Given the description of an element on the screen output the (x, y) to click on. 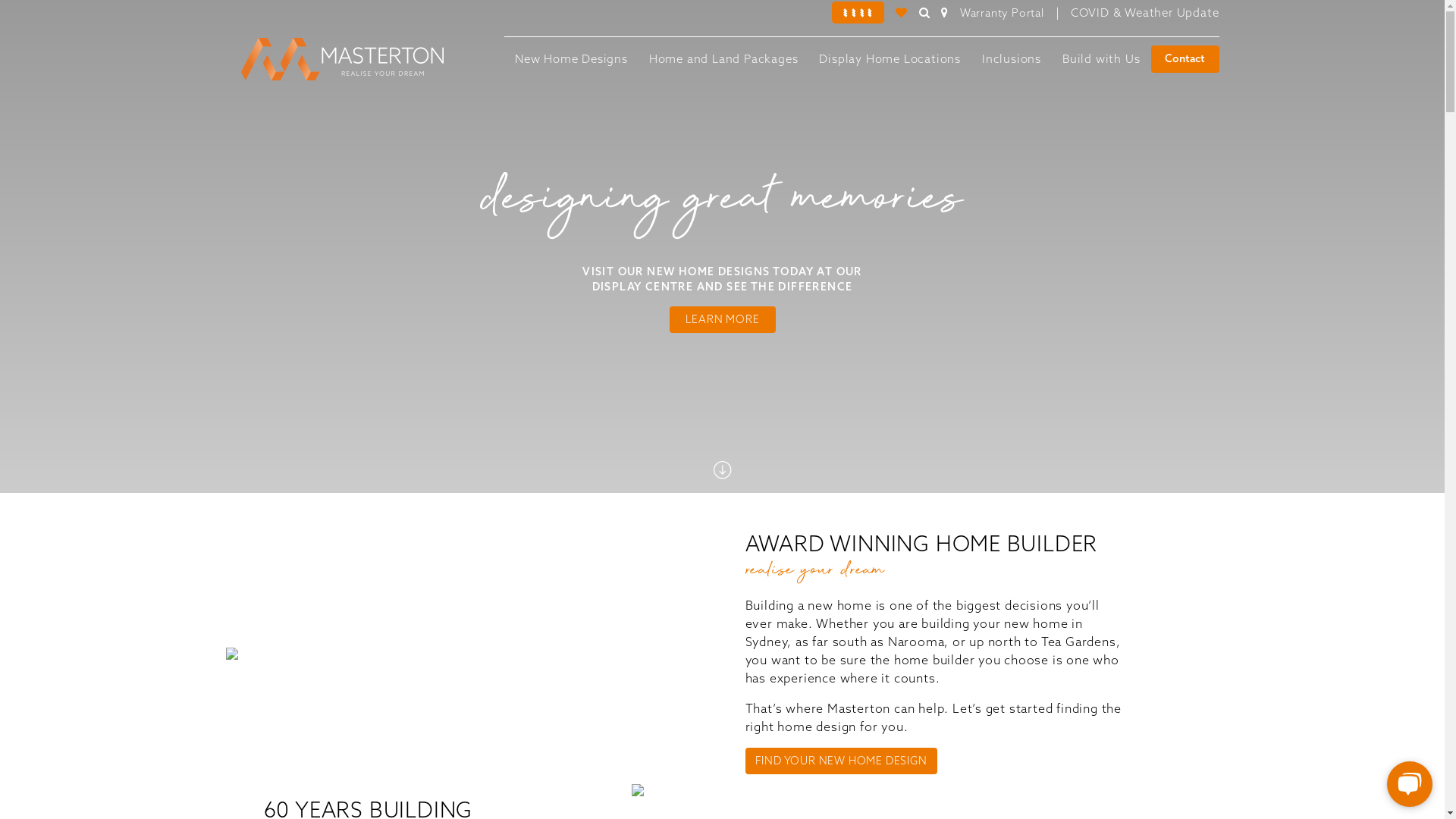
Inclusions Element type: text (1011, 58)
Display Home Locations Element type: text (889, 58)
COVID & Weather Update Element type: text (1144, 12)
Warranty Portal Element type: text (1002, 12)
Home and Land Packages Element type: text (723, 58)
New Home Designs Element type: text (571, 58)
FIND YOUR NEW HOME DESIGN Element type: text (840, 760)
LEARN MORE Element type: text (721, 319)
Build with Us Element type: text (1100, 58)
Contact Element type: text (1185, 58)
